Given the description of an element on the screen output the (x, y) to click on. 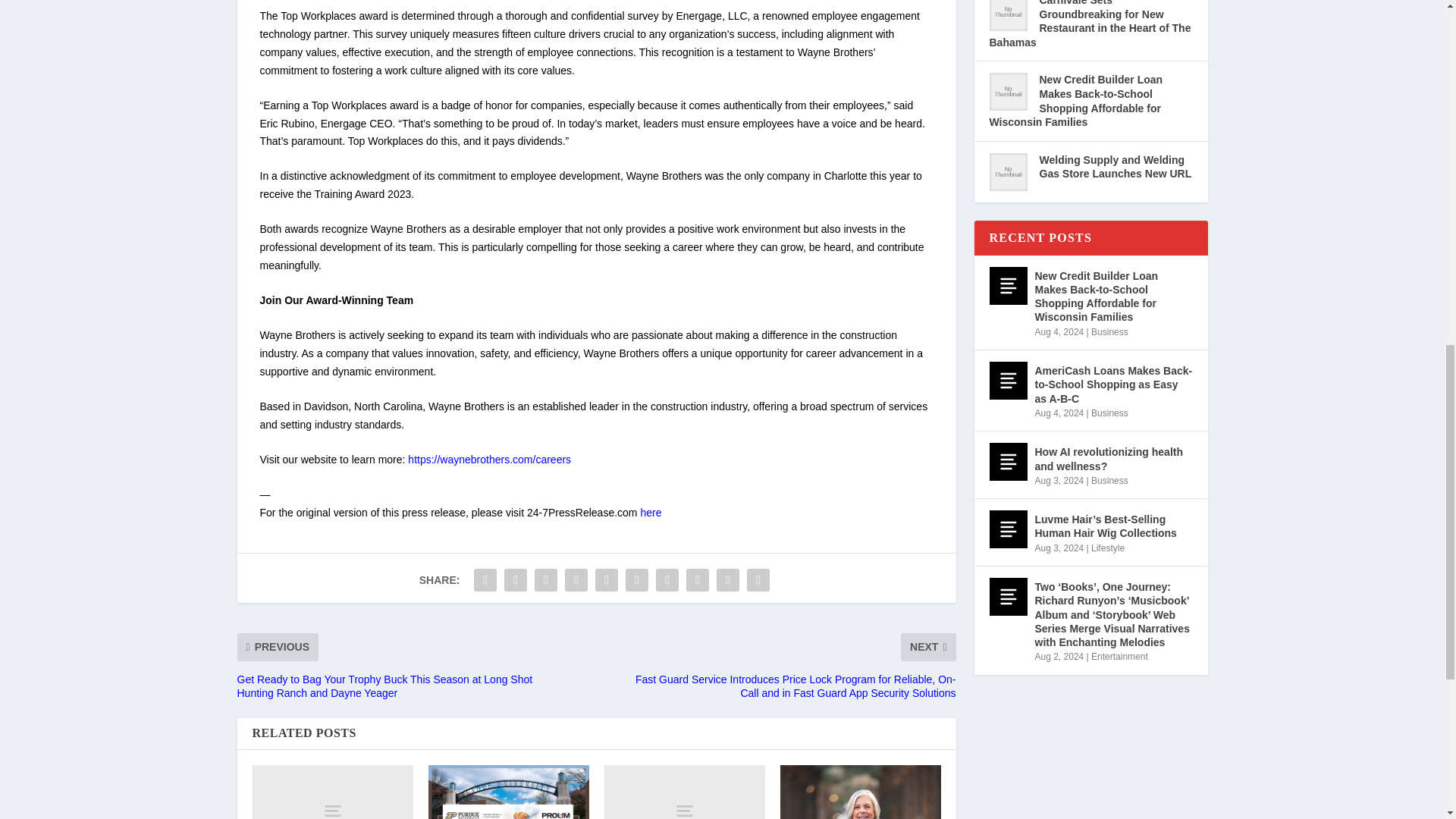
Building more than just foundations for young minds (684, 791)
here (650, 512)
